Given the description of an element on the screen output the (x, y) to click on. 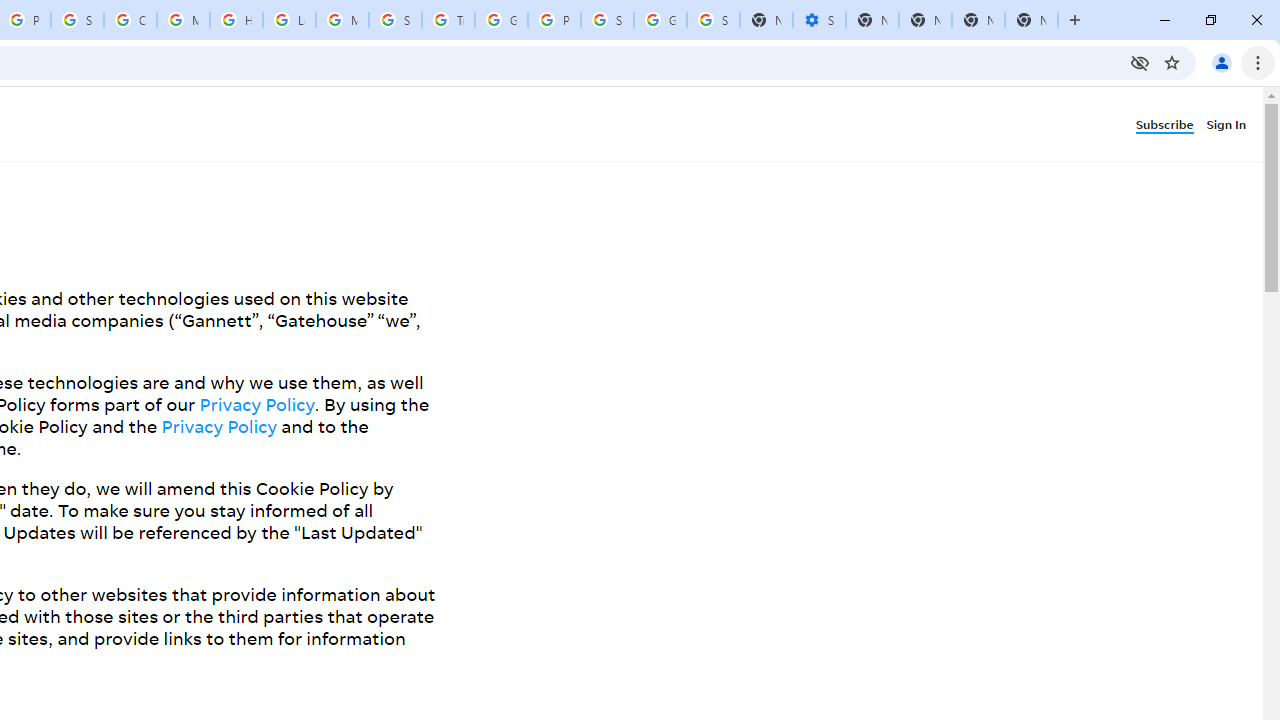
Google Cybersecurity Innovations - Google Safety Center (660, 20)
Google Ads - Sign in (501, 20)
Sign in - Google Accounts (713, 20)
Search our Doodle Library Collection - Google Doodles (395, 20)
Settings - Performance (819, 20)
Sign In (1230, 123)
